Given the description of an element on the screen output the (x, y) to click on. 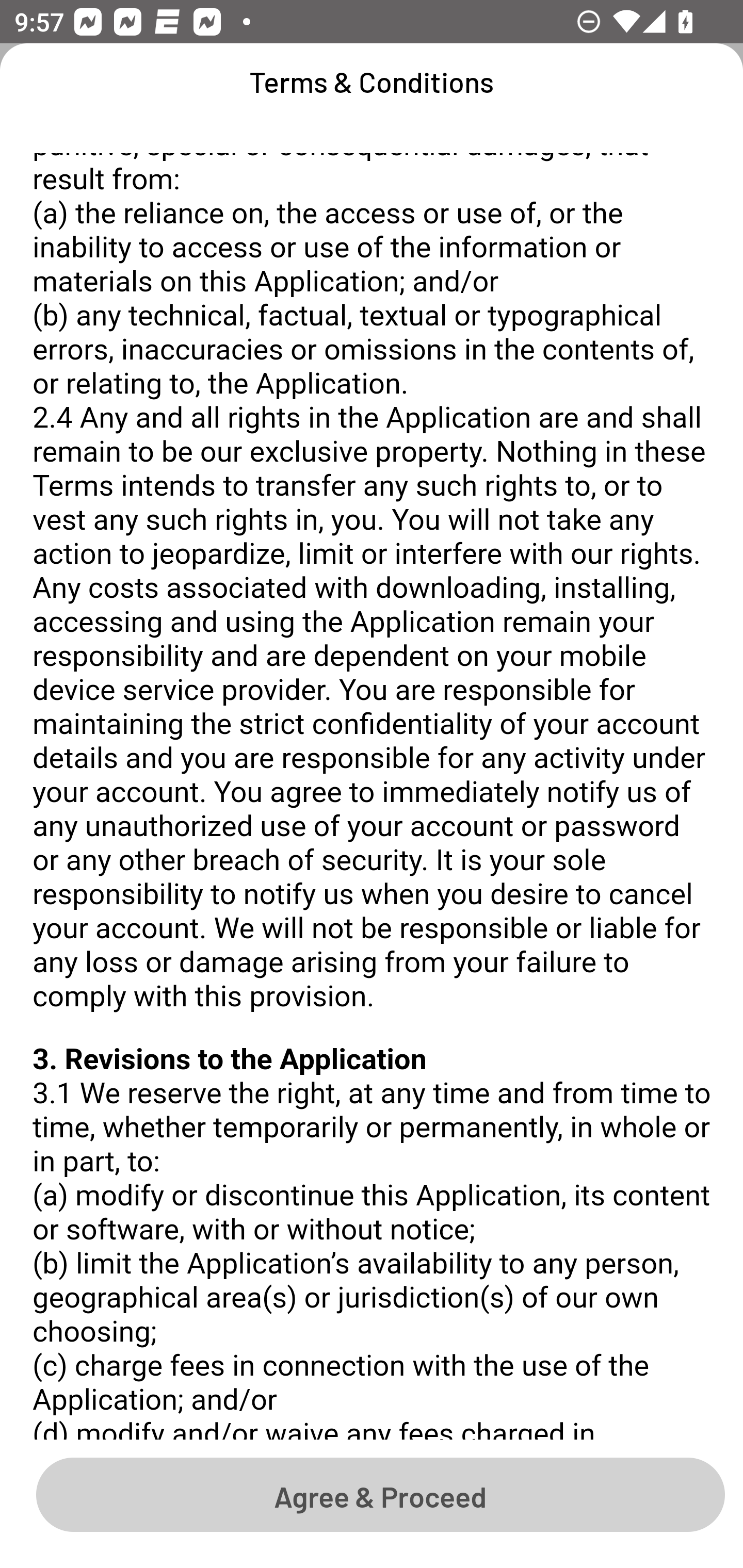
Agree & Proceed (380, 1494)
